Given the description of an element on the screen output the (x, y) to click on. 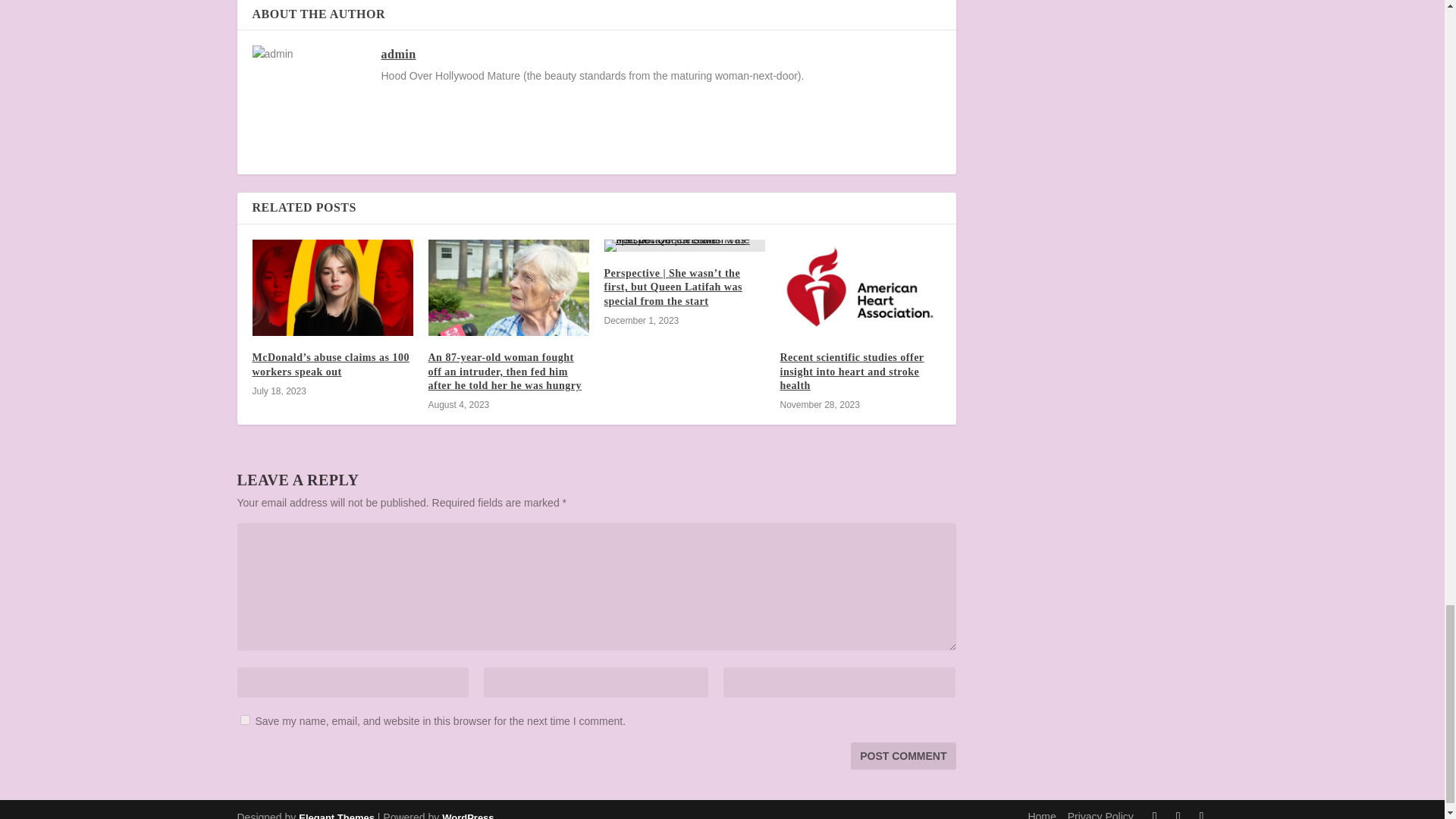
yes (244, 719)
Post Comment (902, 755)
